Given the description of an element on the screen output the (x, y) to click on. 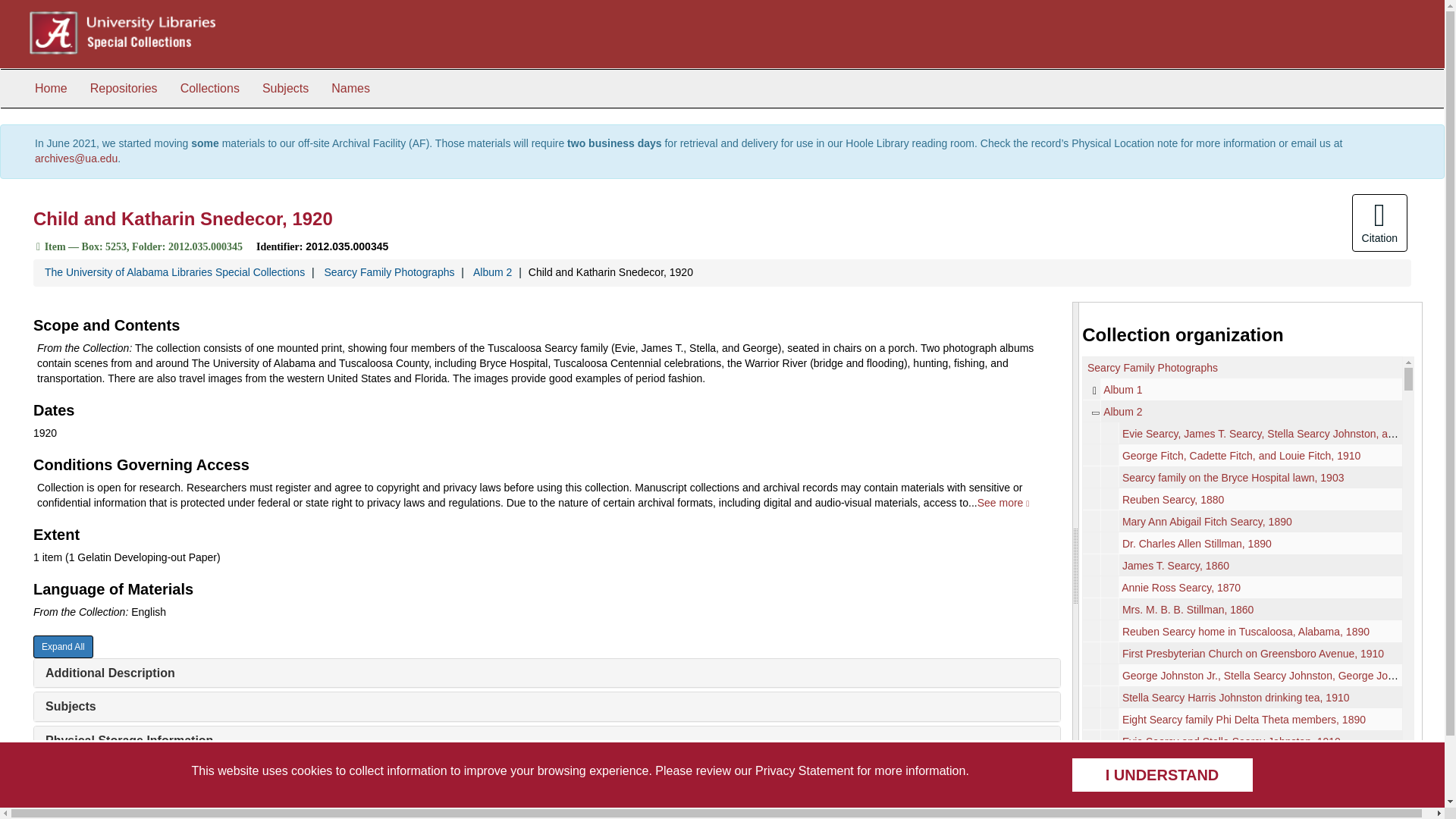
Searcy family on the Bryce Hospital lawn (1242, 477)
Physical Storage Information (128, 739)
Reuben Searcy, 1880 (1173, 499)
Dr. Charles Allen Stillman (1242, 543)
First Presbyterian Church on Greensboro Avenue (1242, 653)
Album 2 (1242, 411)
Citation (1379, 222)
Names (350, 88)
Home (50, 88)
Reuben Searcy home in Tuscaloosa, Alabama (1242, 630)
Album 2 (492, 272)
Searcy Family Photographs (388, 272)
The University of Alabama Libraries Special Collections (174, 272)
Evie Searcy and Stella Searcy Johnston (1242, 741)
George Fitch, Cadette Fitch, and Louie Fitch (1242, 455)
